Given the description of an element on the screen output the (x, y) to click on. 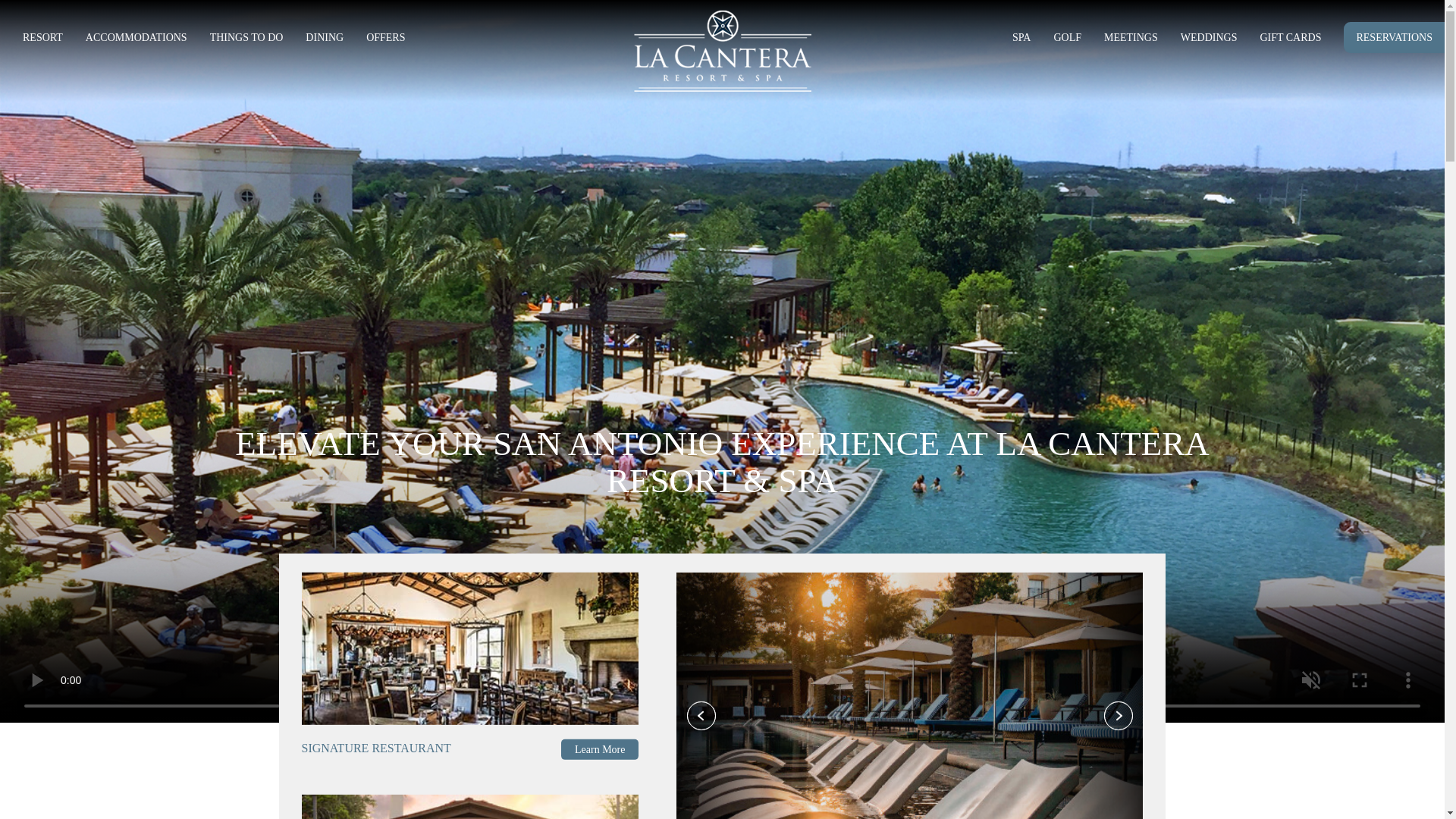
RESORT (42, 38)
MEETINGS (1130, 38)
GIFT CARDS (1289, 38)
Learn More (599, 749)
WEDDINGS (1208, 38)
villas (470, 806)
SPA (1020, 38)
GOLF (1066, 38)
SIGNATURE RESTAURANT (382, 748)
OFFERS (385, 38)
header-logo (721, 50)
THINGS TO DO (246, 38)
DINING (324, 38)
ACCOMMODATIONS (136, 38)
